Given the description of an element on the screen output the (x, y) to click on. 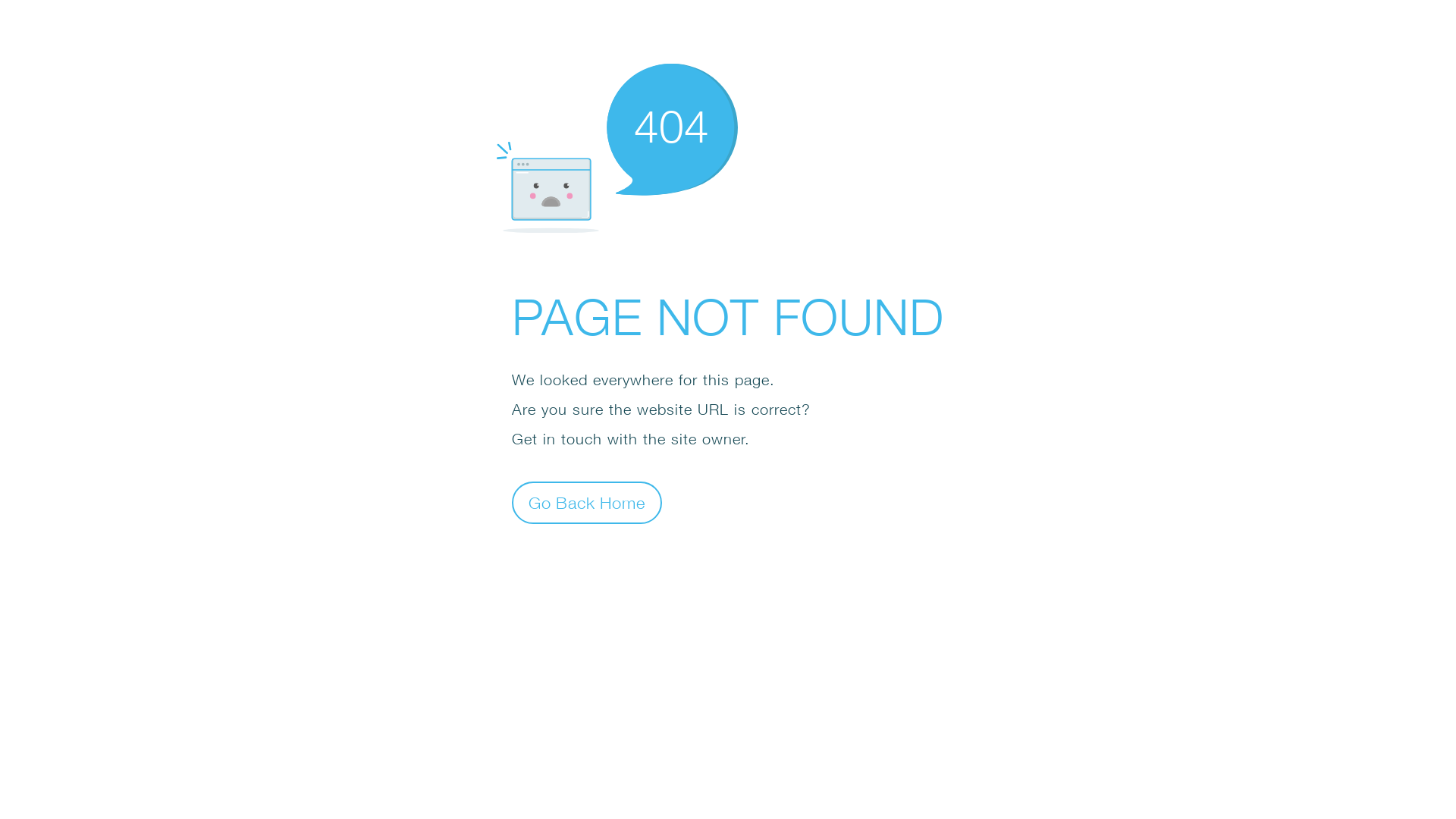
Go Back Home Element type: text (586, 502)
